Given the description of an element on the screen output the (x, y) to click on. 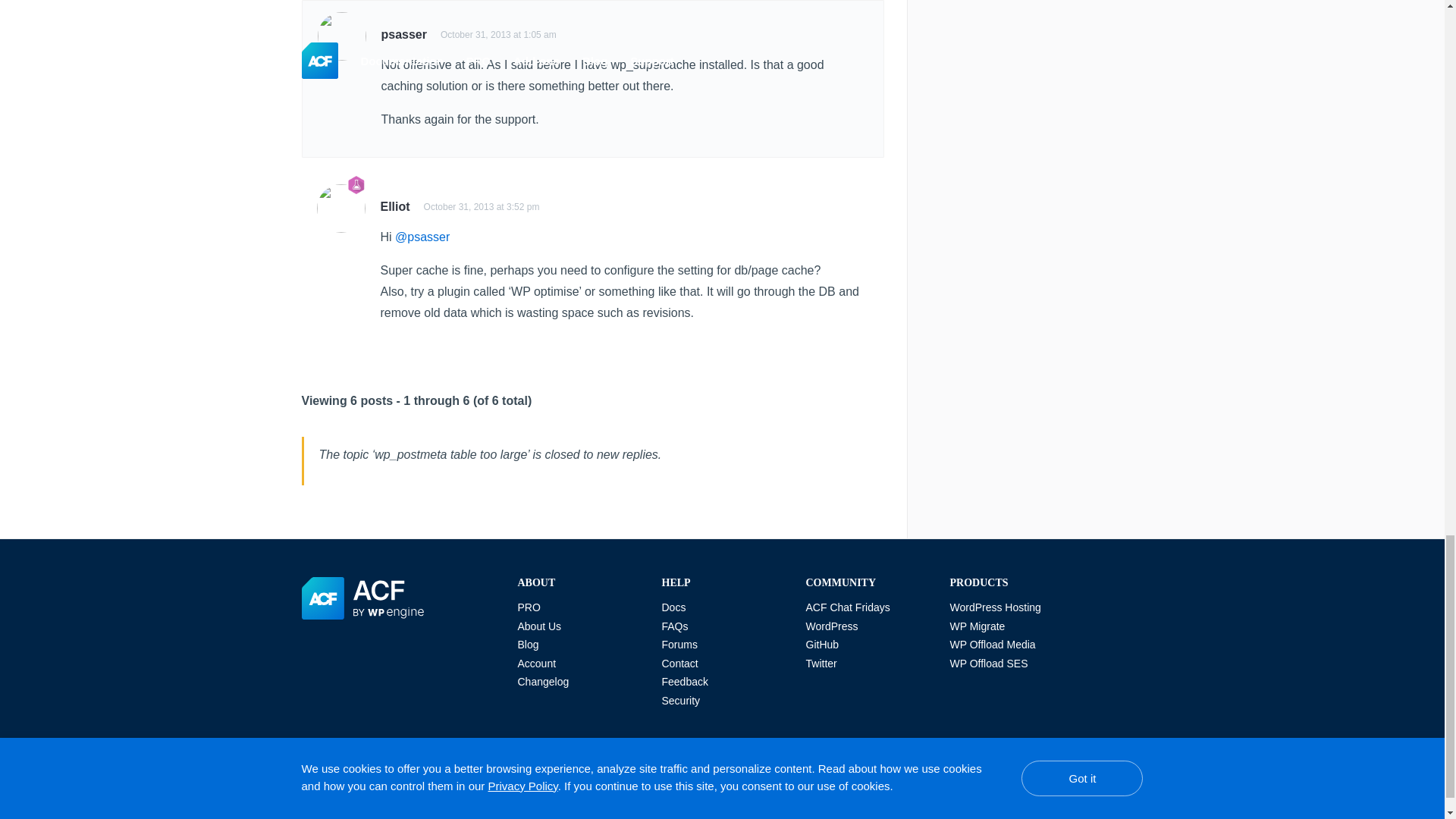
October 31, 2013 at 1:05 am (498, 34)
Elliot (395, 205)
October 31, 2013 at 3:52 pm (481, 206)
psasser (403, 33)
